Given the description of an element on the screen output the (x, y) to click on. 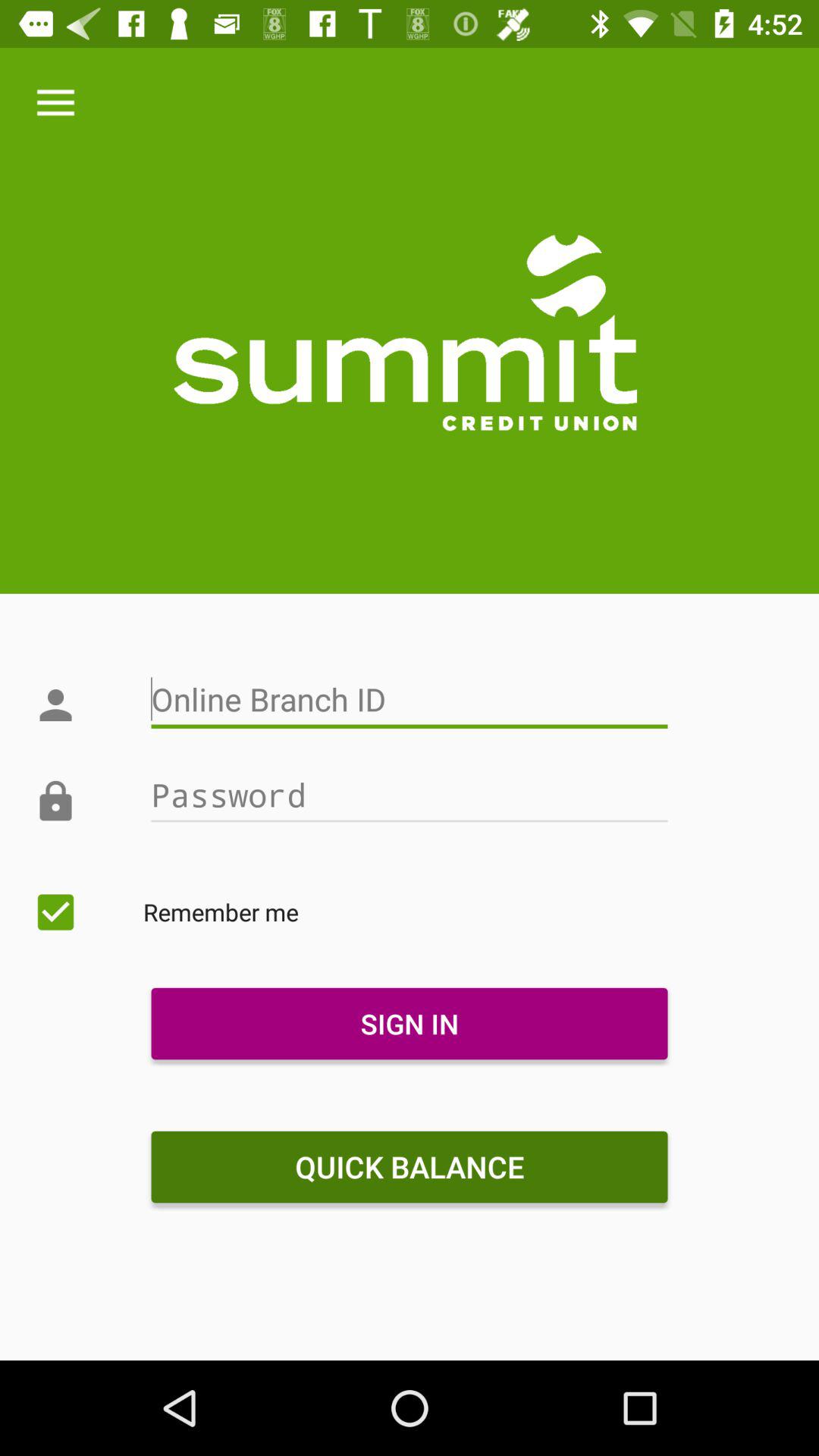
choose icon above remember me icon (409, 795)
